Given the description of an element on the screen output the (x, y) to click on. 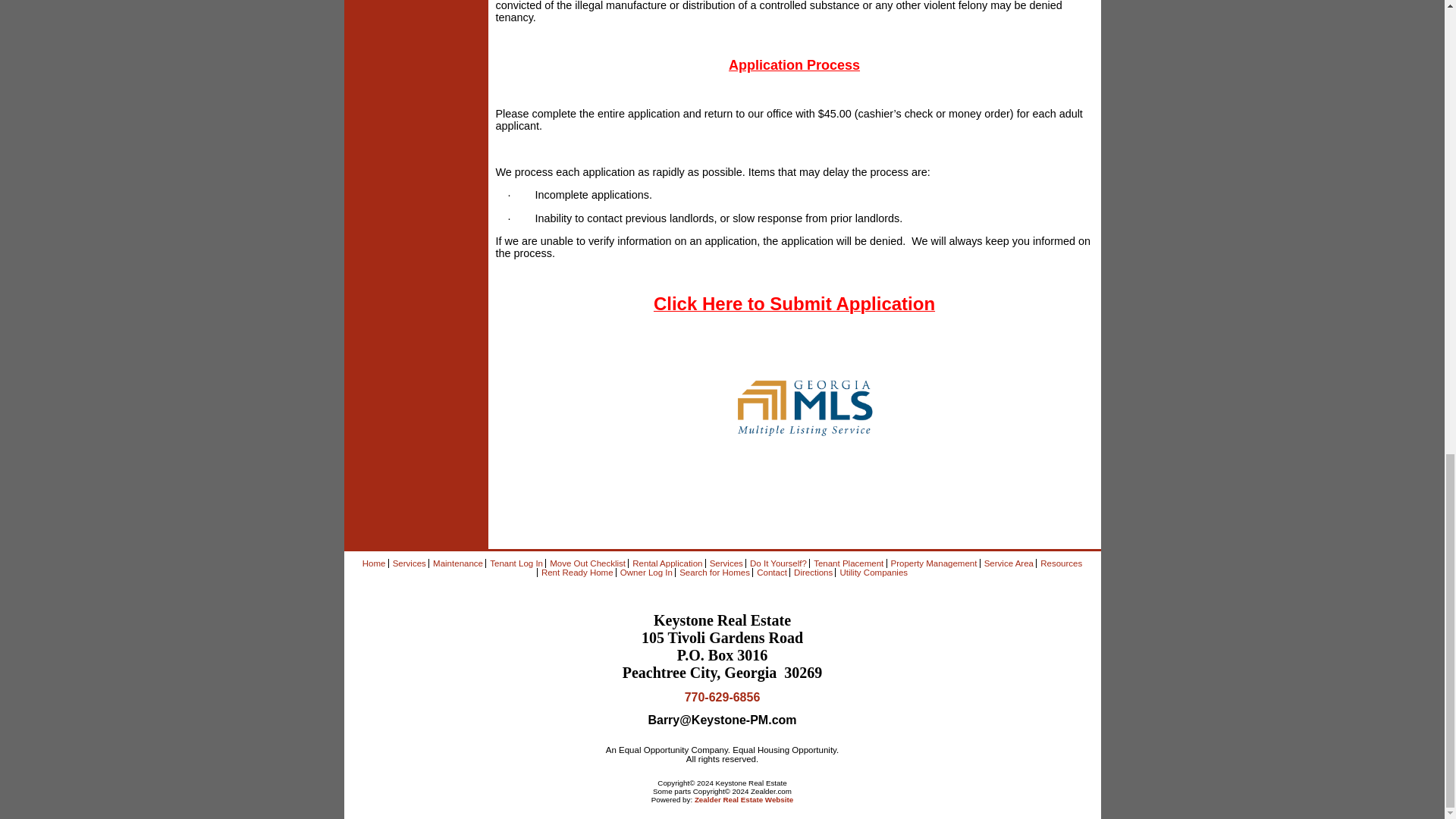
Keystone Property Management - Tenant Placement (848, 563)
Move Out Checklist (588, 563)
Tenant Placement (848, 563)
Maintenance (457, 563)
Services (726, 563)
Click Here to Submit Application (793, 306)
Home (373, 563)
Property Management (933, 563)
Rental Application (666, 563)
Move Out Checklist (588, 563)
Do It Yourself? (777, 563)
Rent Ready Home (576, 572)
